Given the description of an element on the screen output the (x, y) to click on. 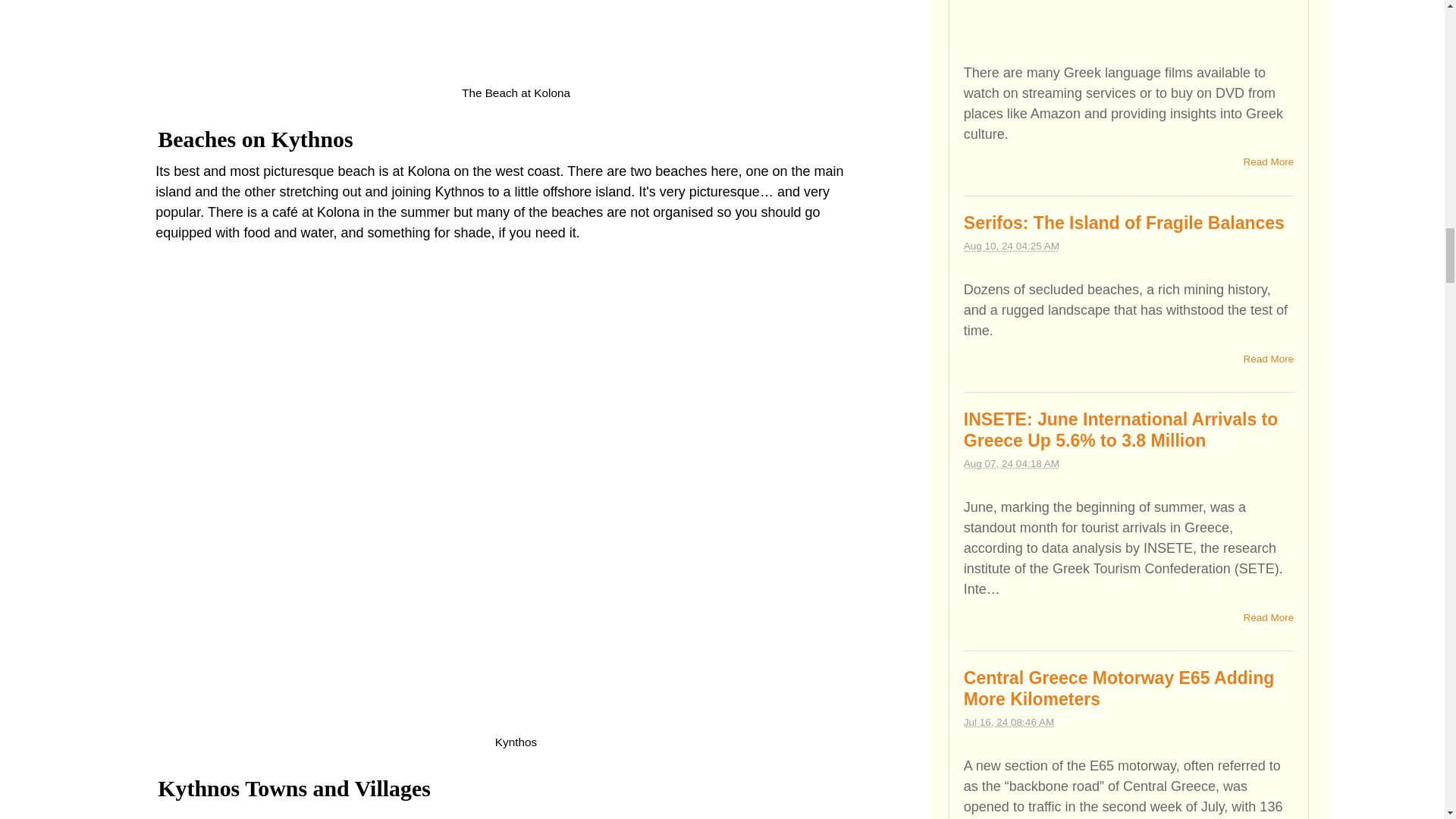
2024-08-07T04:18:40-0400 (1011, 463)
2024-08-10T04:25:40-0400 (1011, 245)
